Given the description of an element on the screen output the (x, y) to click on. 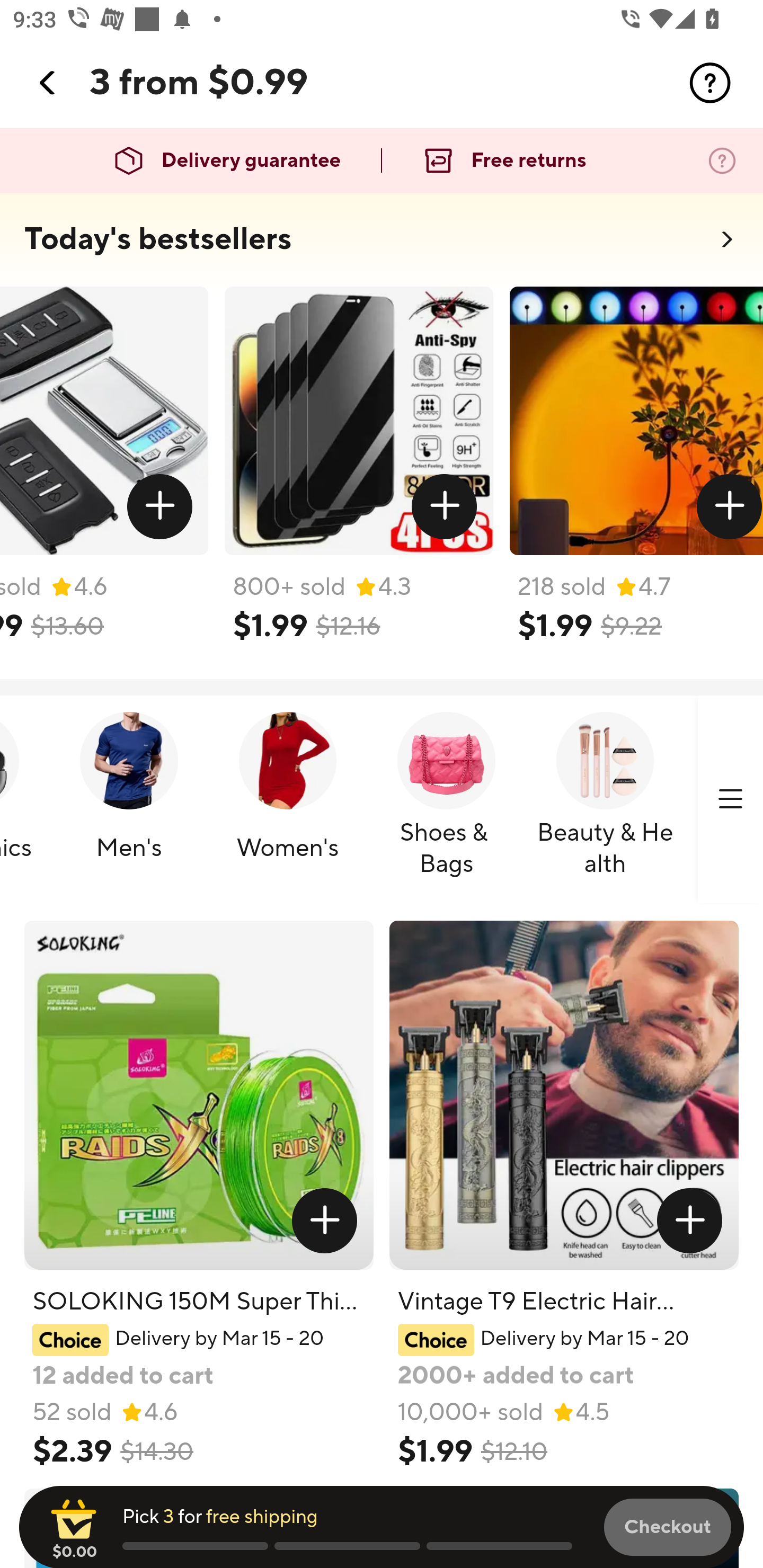
 (710, 82)
 (48, 82)
Today's bestsellers  Today's bestsellers  (381, 244)
Today's bestsellers (157, 239)
 (158, 506)
 (445, 506)
 (729, 506)
200x200.png_ Men's (128, 800)
200x200.png_ Women's (287, 800)
300x300.png_ Shoes & Bags (446, 800)
300x300.png_ Beauty & Health (604, 800)
300x300.png_ Phone Accessories (727, 800)
 (323, 1220)
 (689, 1220)
